Given the description of an element on the screen output the (x, y) to click on. 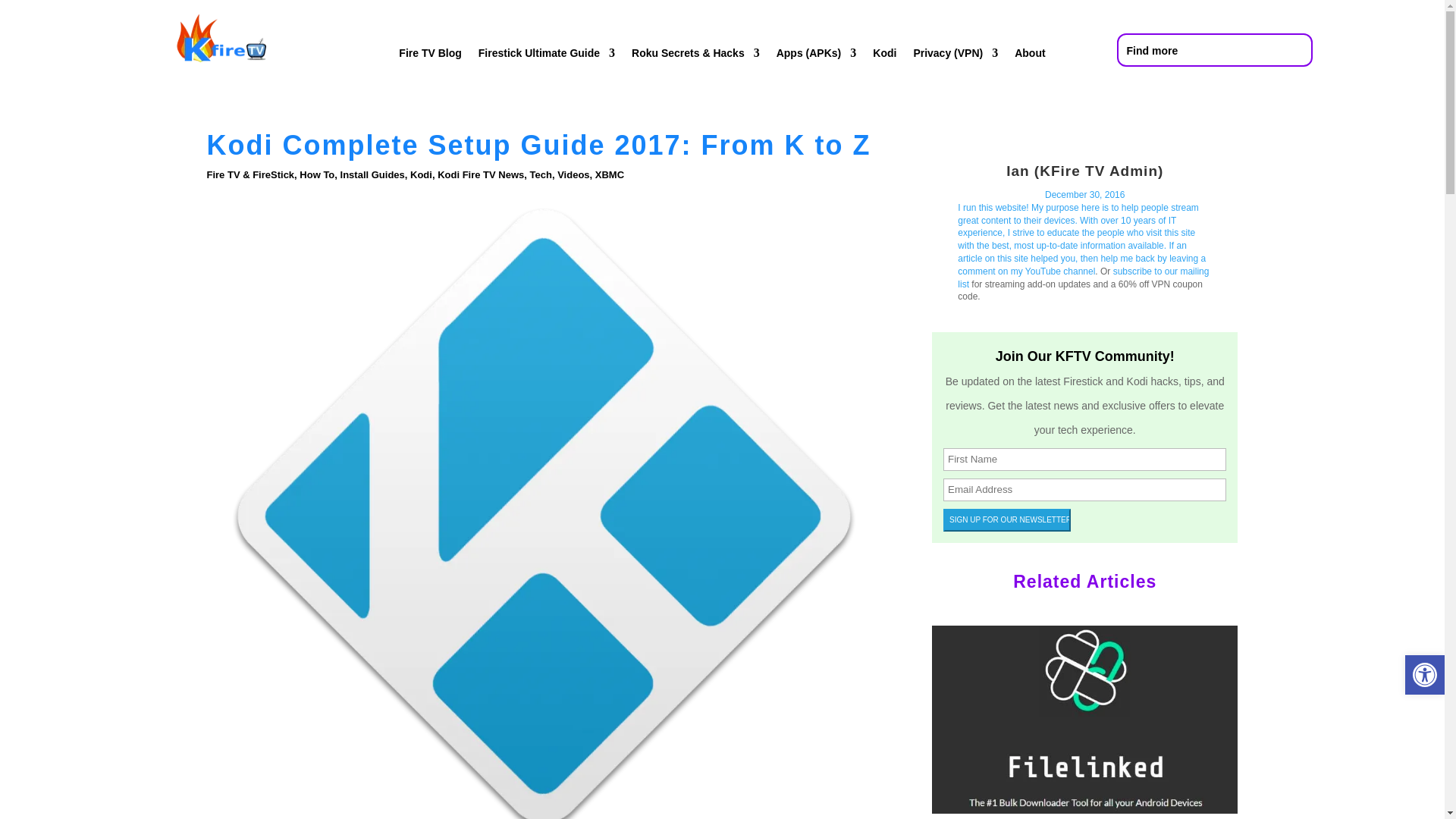
SIGN UP FOR OUR NEWSLETTER (1006, 519)
Firestick Ultimate Guide (546, 55)
IP Vanish Generic (1084, 194)
IP Vanish Generic (1084, 170)
Fire TV Blog (429, 55)
IP Vanish Generic (1081, 239)
Accessibility Tools (1424, 674)
Kodi (884, 55)
